Given the description of an element on the screen output the (x, y) to click on. 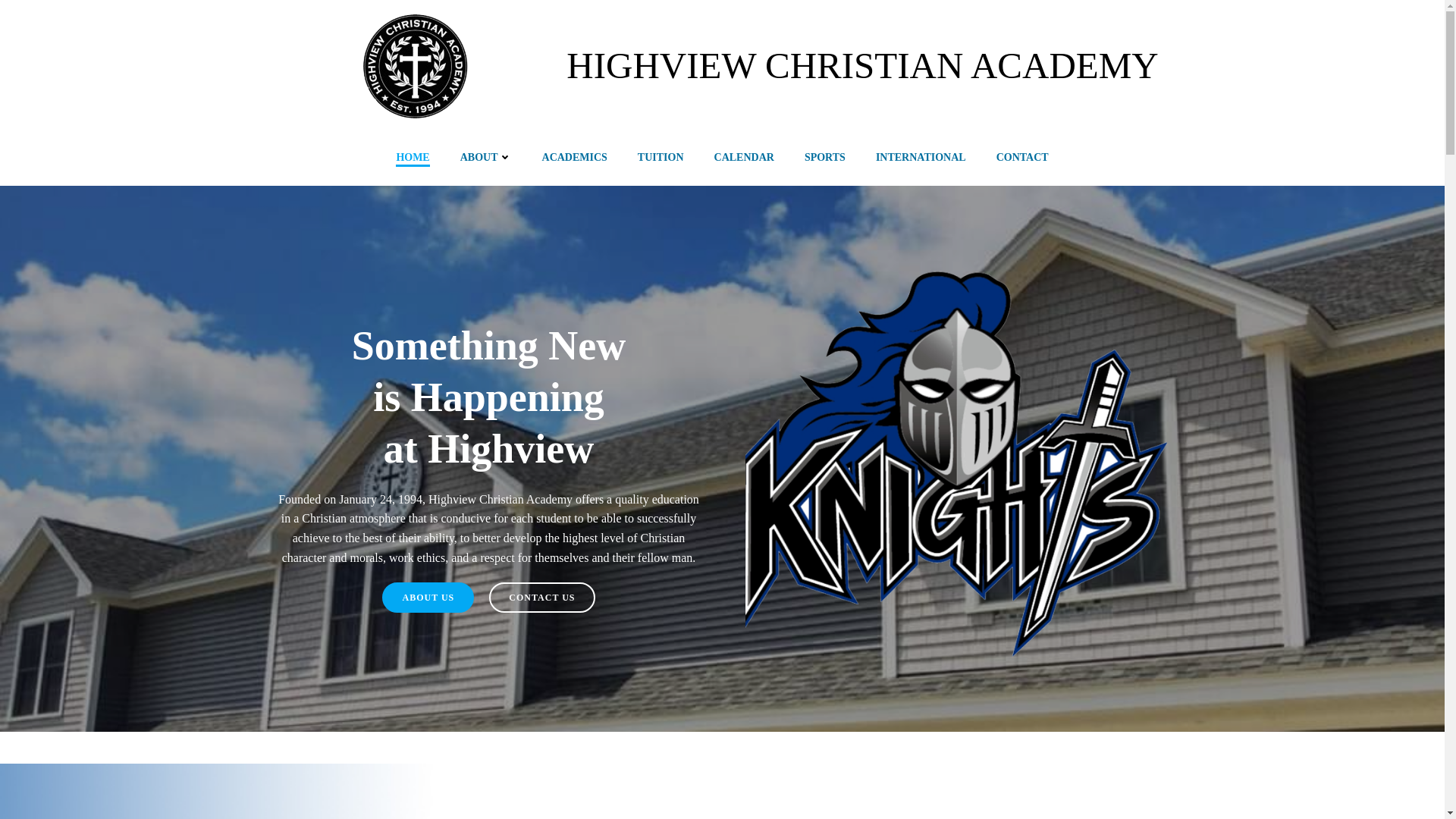
ABOUT US (427, 597)
INTERNATIONAL (921, 157)
CALENDAR (744, 157)
HOME (412, 157)
CONTACT US (541, 597)
TUITION (660, 157)
ABOUT (486, 157)
SPORTS (825, 157)
ACADEMICS (574, 157)
CONTACT (1021, 157)
